Given the description of an element on the screen output the (x, y) to click on. 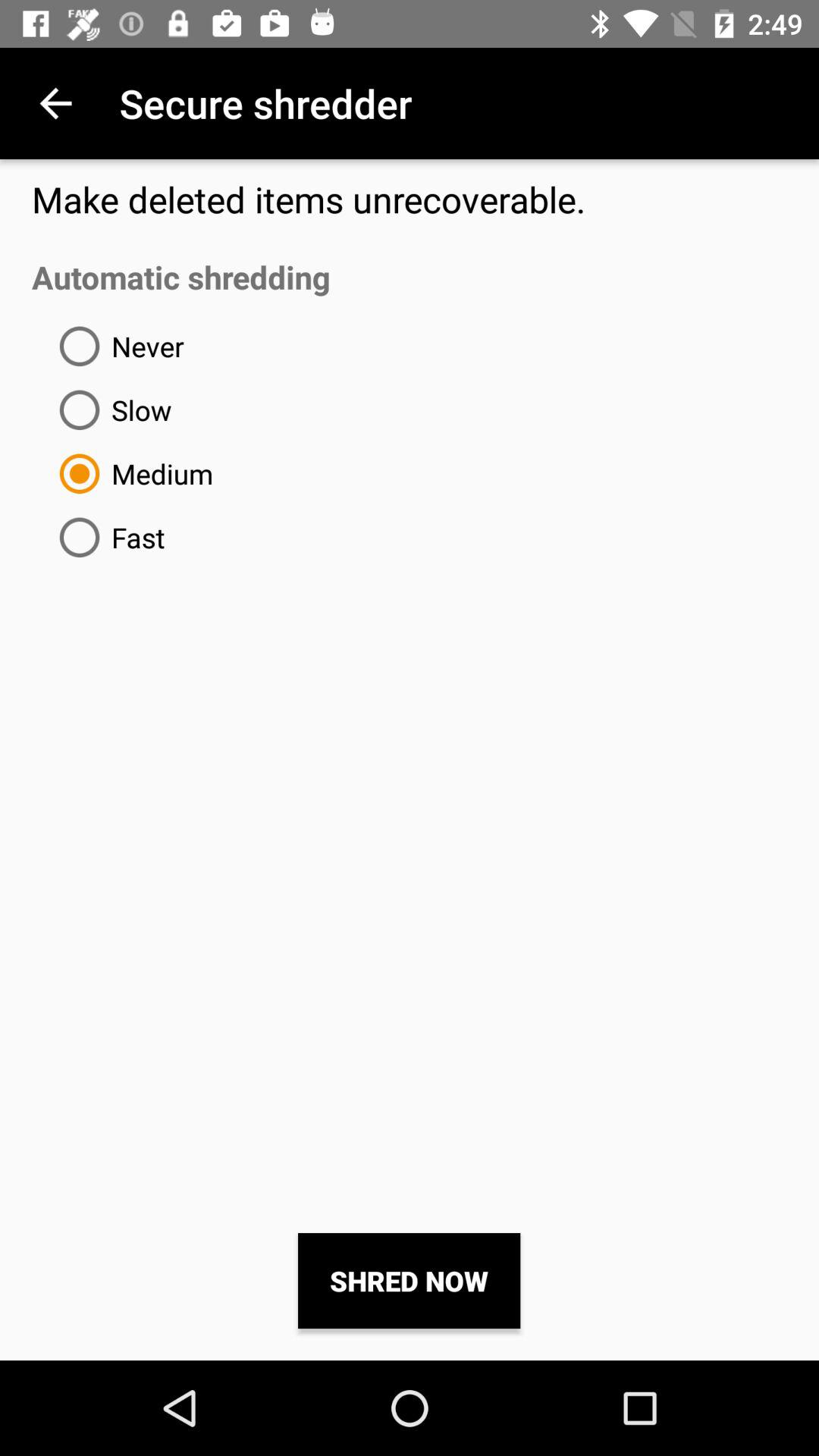
click item below automatic shredding icon (409, 1280)
